Given the description of an element on the screen output the (x, y) to click on. 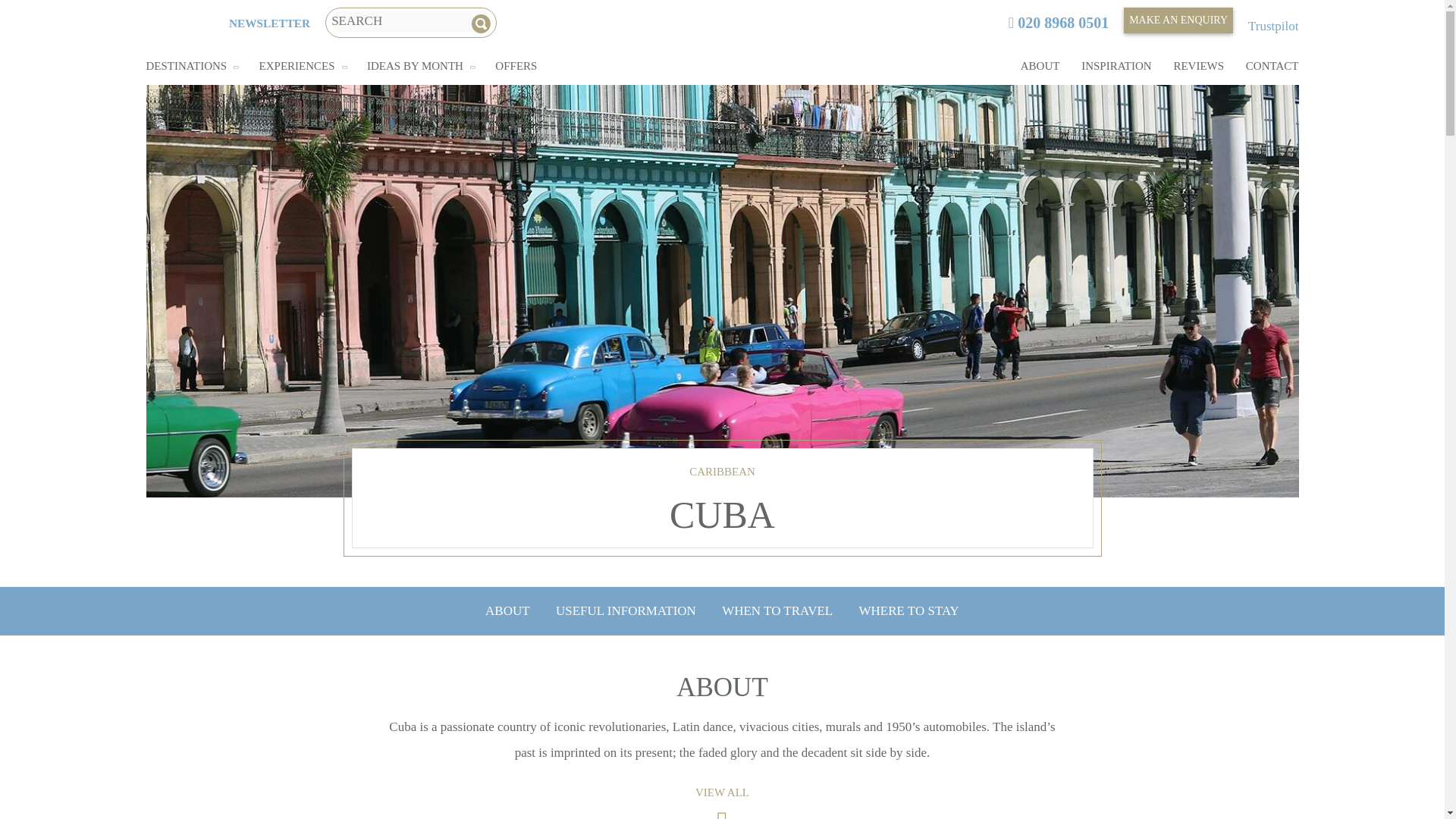
DESTINATIONS (186, 65)
Trustpilot (1272, 25)
020 8968 0501 (1058, 22)
NEWSLETTER (269, 22)
MAKE AN ENQUIRY (1178, 20)
MAKE AN ENQUIRY (1178, 19)
